Given the description of an element on the screen output the (x, y) to click on. 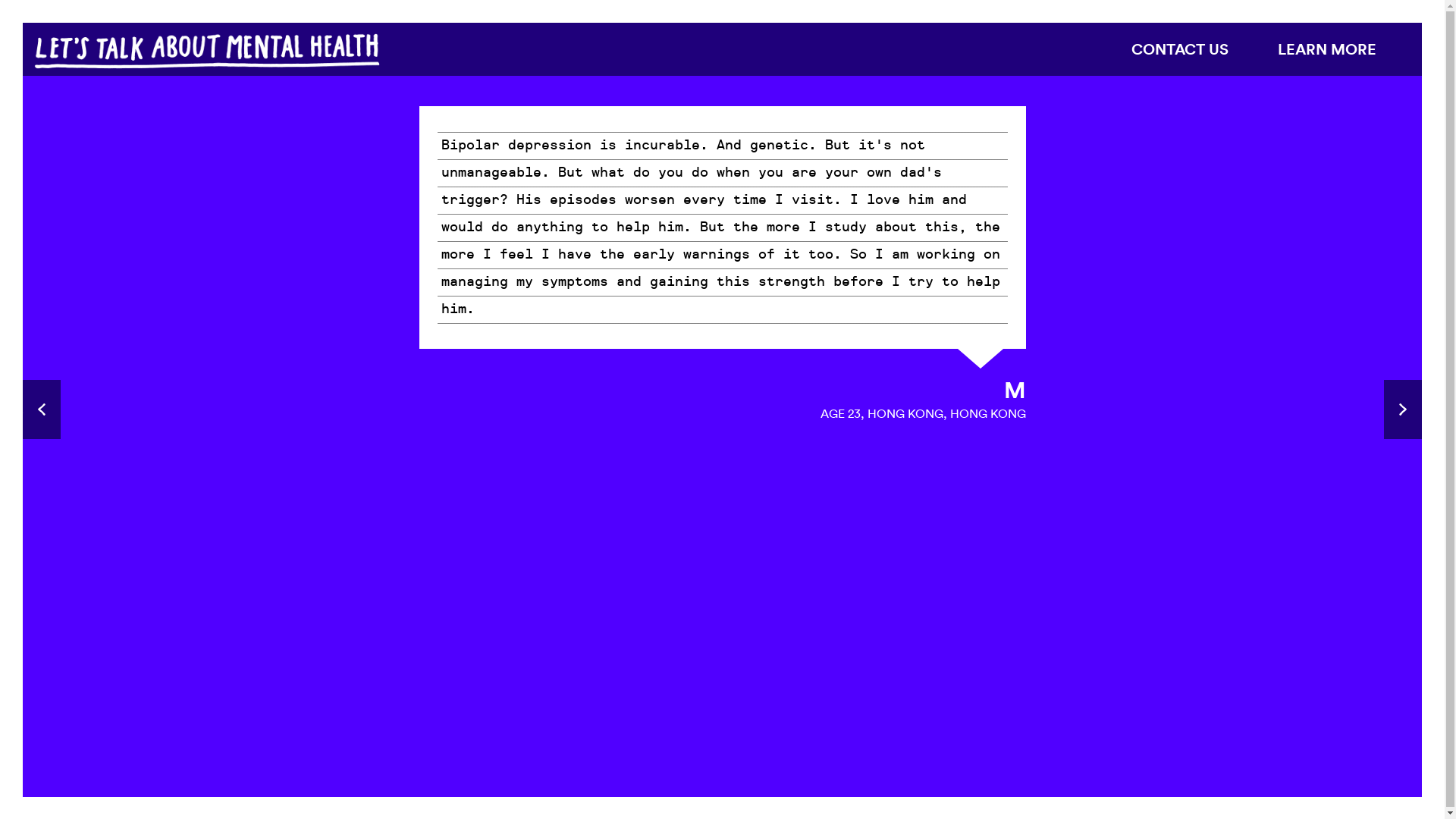
CONTACT US Element type: text (1179, 48)
PREVIOUS
STORY Element type: text (41, 409)
LEARN MORE Element type: text (1327, 48)
